Given the description of an element on the screen output the (x, y) to click on. 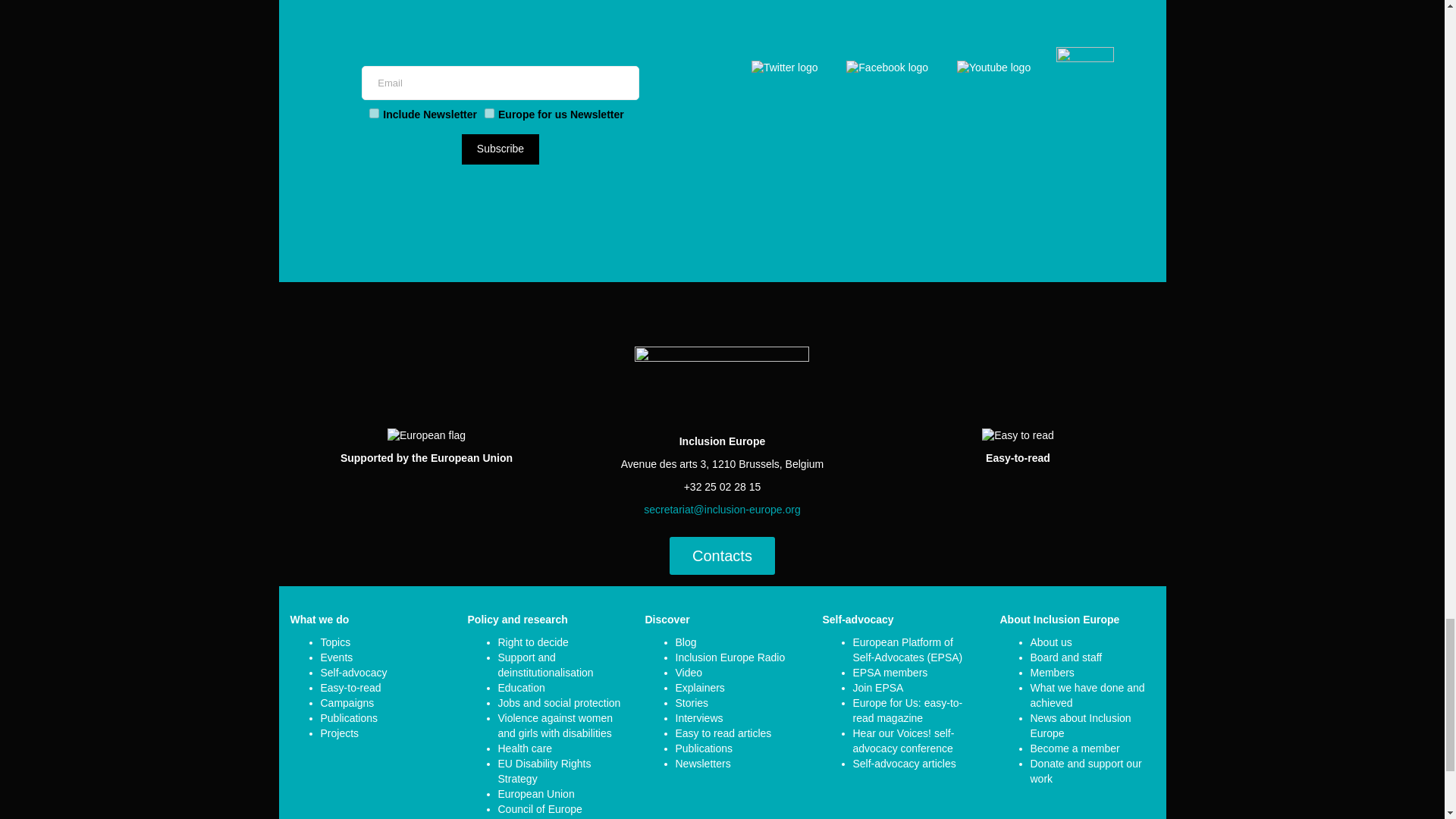
2 (373, 112)
3 (489, 112)
